Given the description of an element on the screen output the (x, y) to click on. 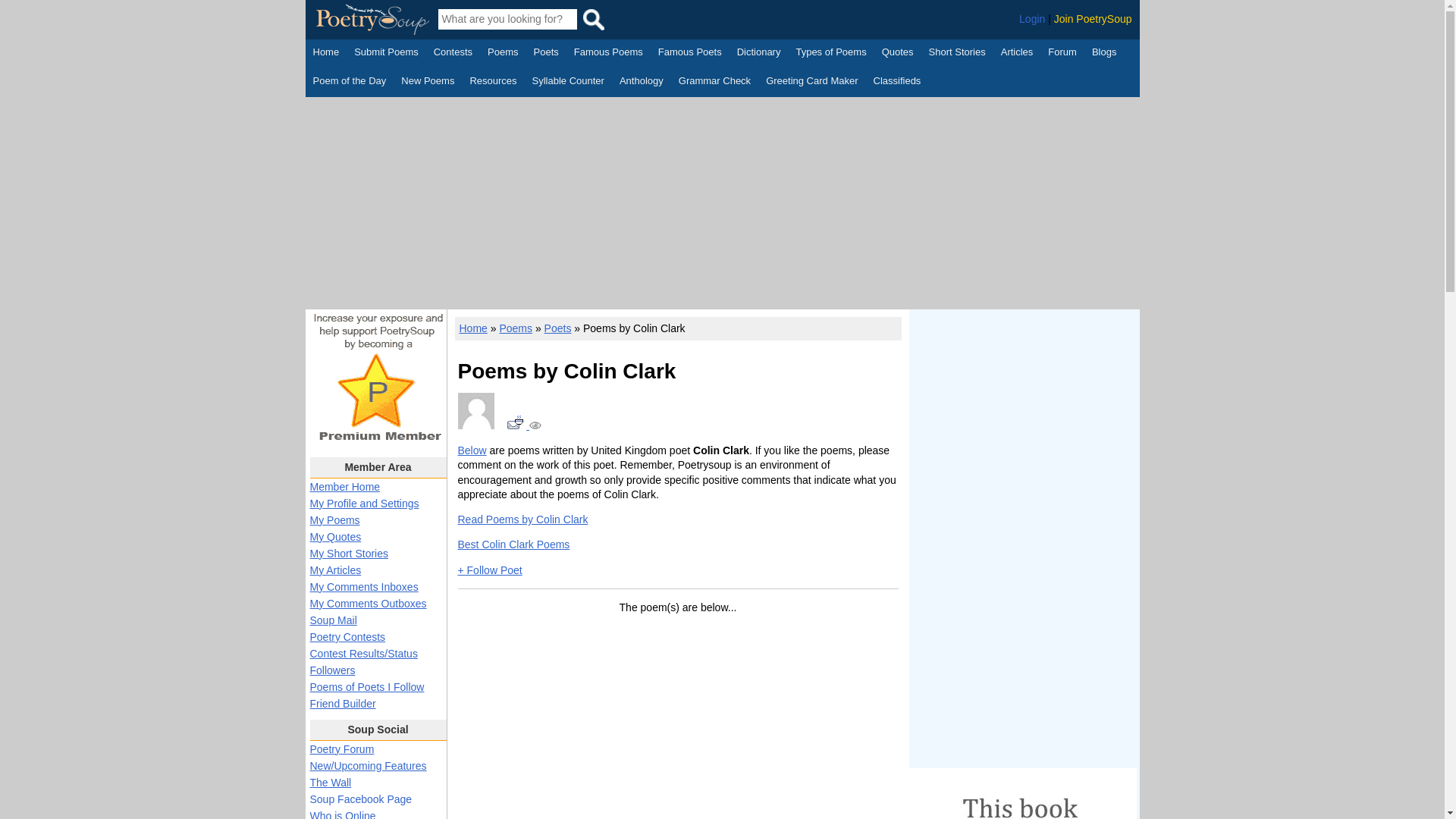
My Quotes (334, 536)
Contests (452, 53)
Poets (546, 53)
Dictionary (758, 53)
My Profile and Settings (363, 503)
Poems (502, 53)
Short Stories (956, 53)
Types of Poems (830, 53)
Greeting Card Maker (811, 82)
Grammar Check (714, 82)
Forum (1062, 53)
Poetry Contests (452, 53)
Anthology (641, 82)
Famous Poems (608, 53)
Quotes (898, 53)
